Given the description of an element on the screen output the (x, y) to click on. 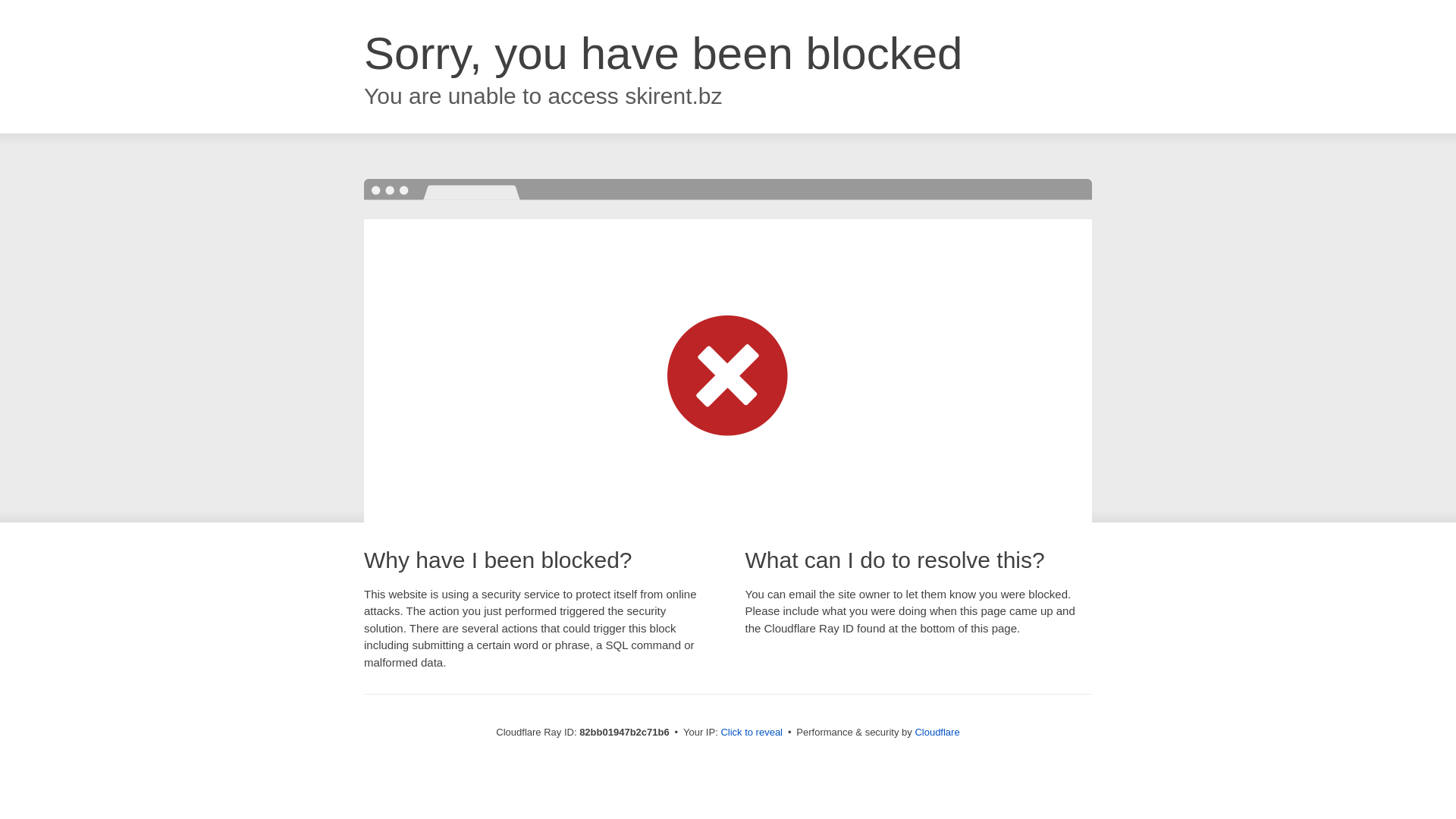
Click to reveal Element type: text (751, 732)
Cloudflare Element type: text (936, 731)
